Given the description of an element on the screen output the (x, y) to click on. 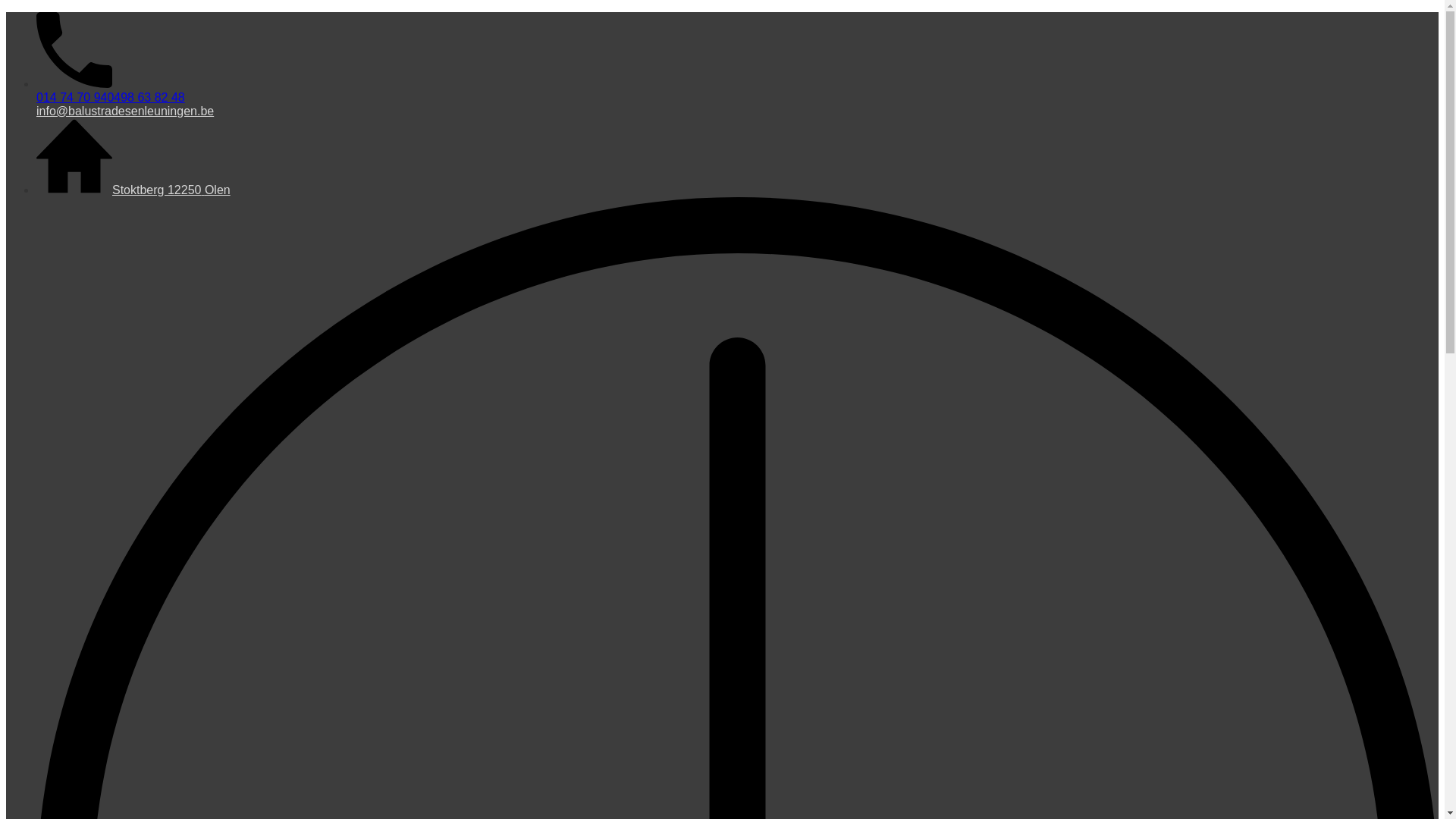
info@balustradesenleuningen.be Element type: text (124, 110)
014 74 70 94 Element type: text (71, 97)
0498 63 82 48 Element type: text (145, 97)
Stoktberg 12250 Olen Element type: text (171, 189)
